Given the description of an element on the screen output the (x, y) to click on. 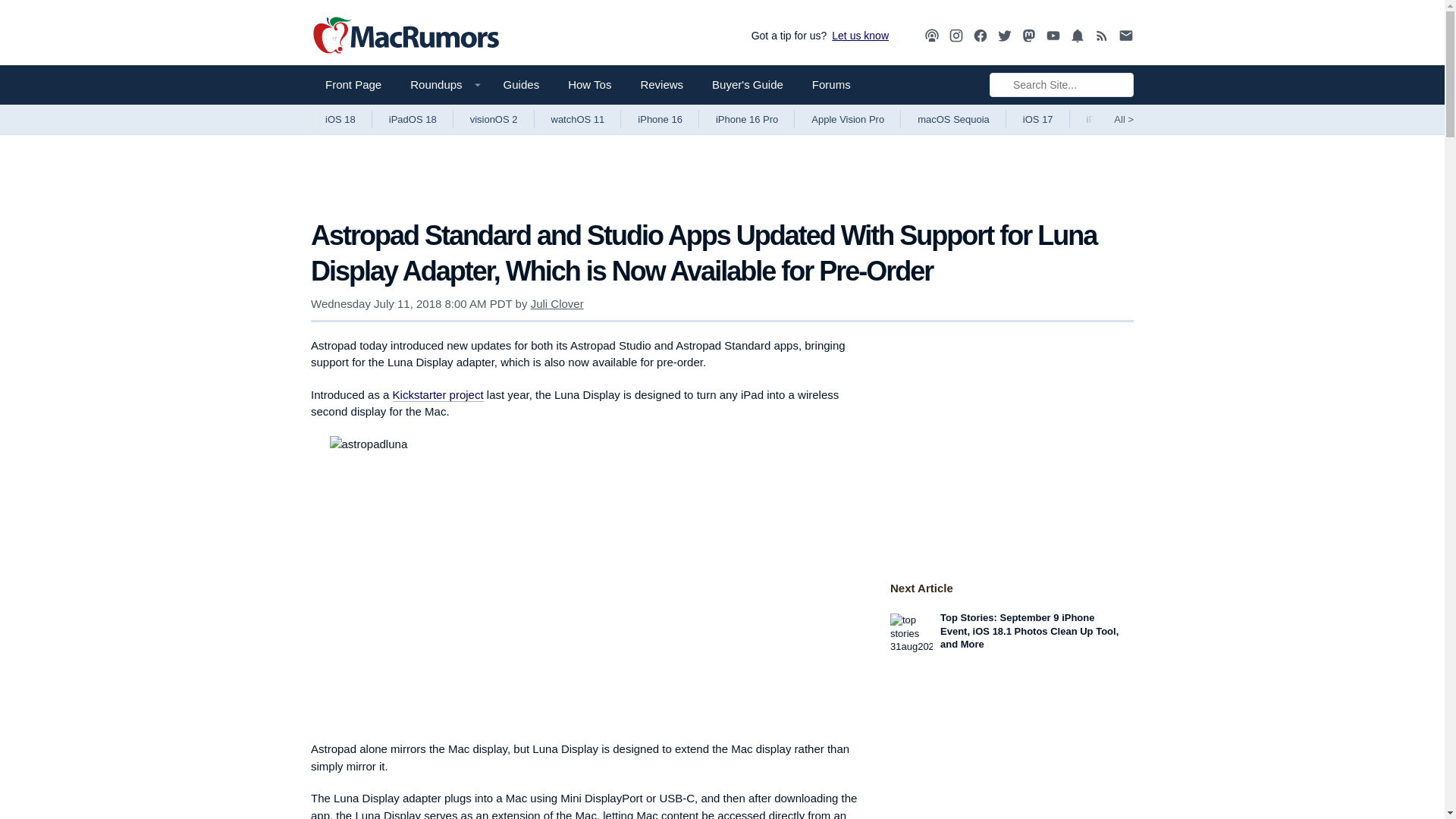
Notifications (1077, 35)
MacRumors on Twitter (1004, 35)
Facebook (980, 35)
Twitter (1004, 35)
MacRumors Show (931, 35)
Apple, Mac, iPhone, iPad News and Rumors (405, 36)
Forums (830, 84)
Podcast (931, 35)
Instagram (956, 35)
Roundups (441, 84)
